Given the description of an element on the screen output the (x, y) to click on. 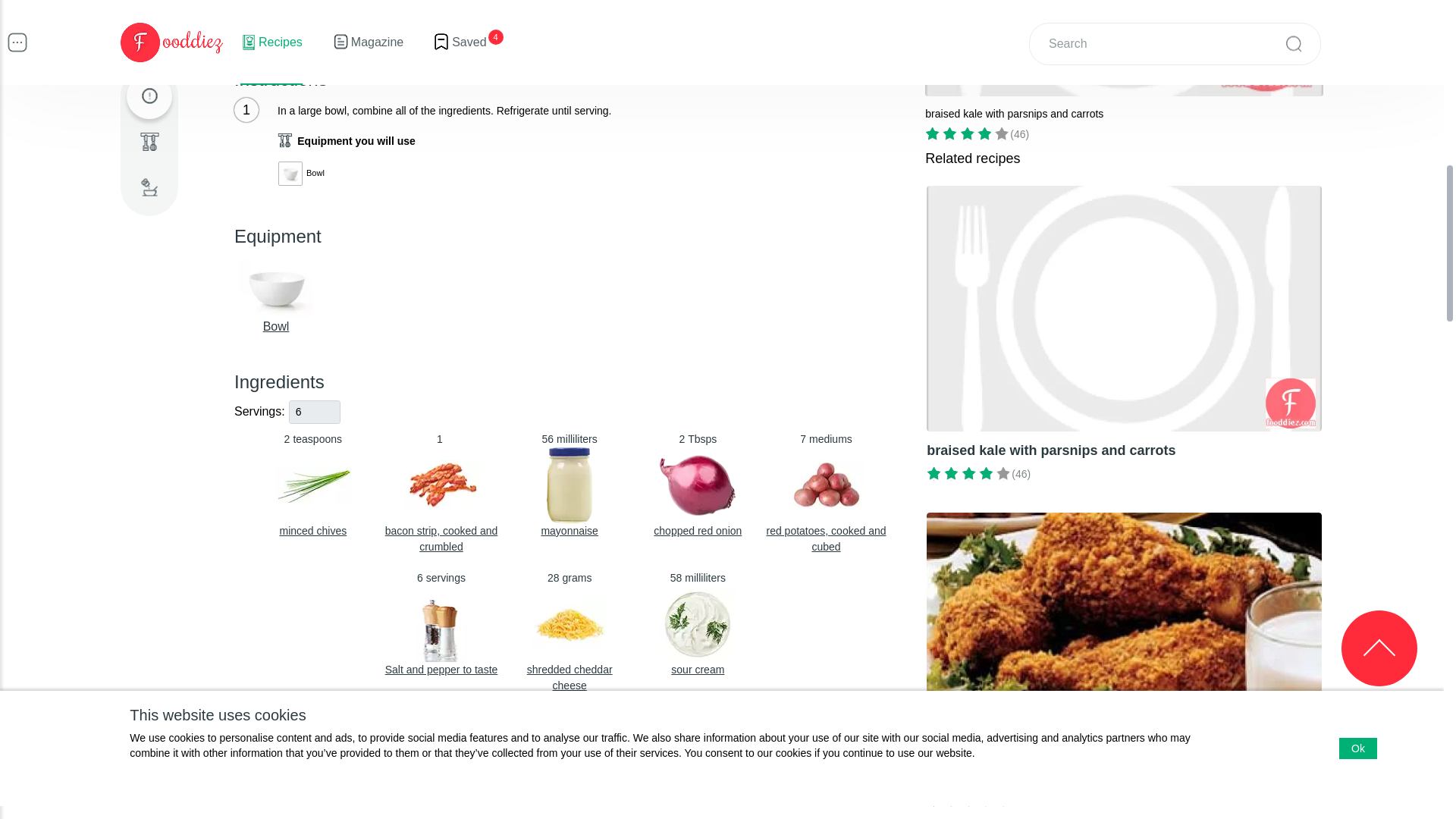
Lemon Syrup (725, 70)
6 (314, 412)
Bowl (569, 484)
Mustard Drumsticks for Two (276, 326)
Instructions (1123, 665)
braised kale with parsnips and carrots (311, 484)
Ingredients (148, 95)
Equipment (697, 484)
braised kale with parsnips and carrots (1123, 70)
